Given the description of an element on the screen output the (x, y) to click on. 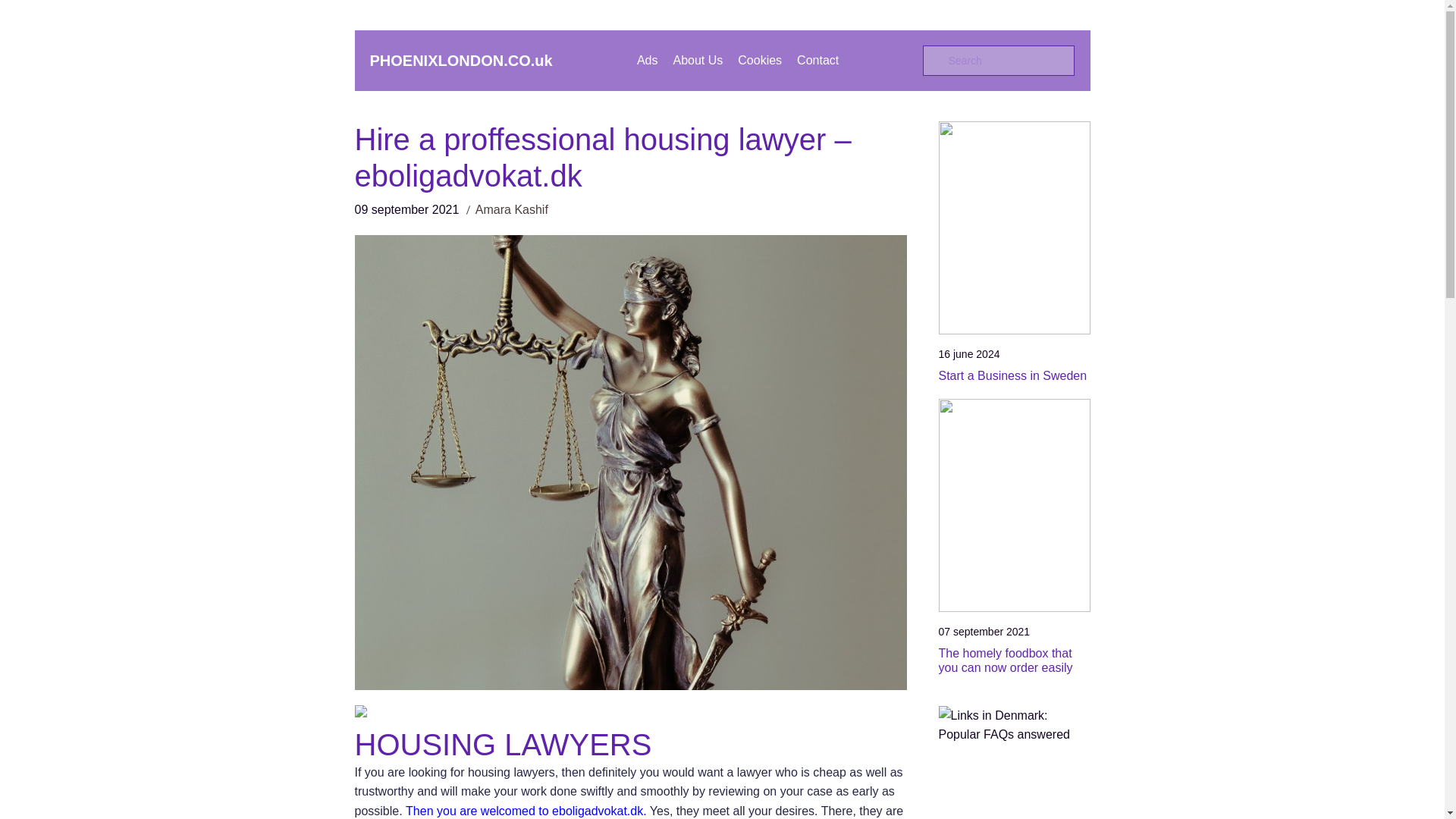
Start a Business in Sweden (1014, 375)
Contact (817, 60)
PHOENIXLONDON.CO.uk (461, 60)
Ads (647, 60)
Cookies (759, 60)
About Us (697, 60)
The homely foodbox that you can now order easily (1014, 660)
Then you are welcomed to eboligadvokat.dk. (526, 810)
